Given the description of an element on the screen output the (x, y) to click on. 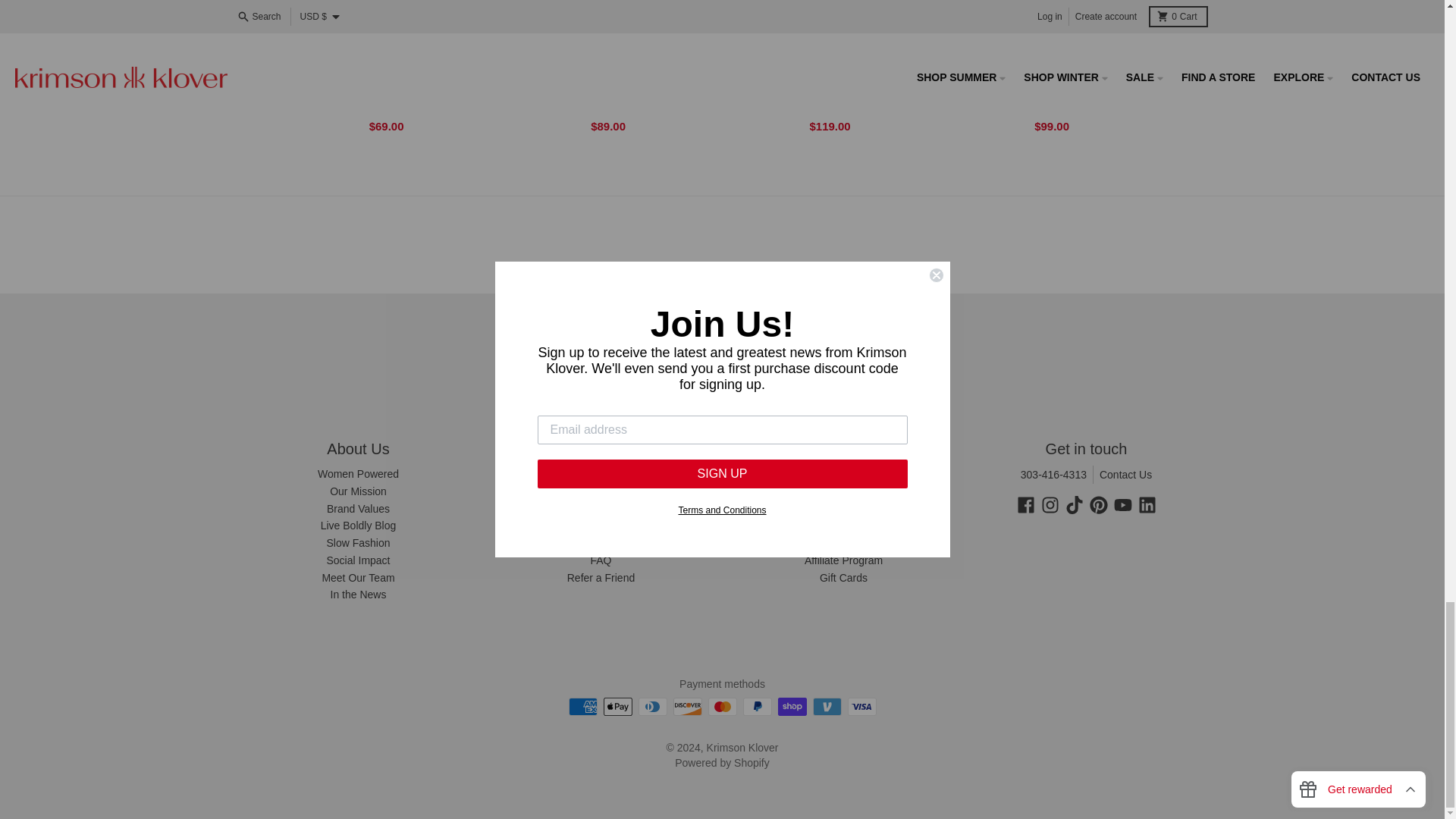
Pinterest - Krimson Klover (1097, 505)
Hallie Hoodie Sunshirt (611, 114)
Instagram - Krimson Klover (1049, 505)
Facebook - Krimson Klover (1024, 505)
Gondola Base Layer Top (832, 114)
Tori Short Sleeve Sunshirt (389, 114)
Mandy Tunic Sunshirt (1055, 114)
TikTok - Krimson Klover (1073, 505)
